Given the description of an element on the screen output the (x, y) to click on. 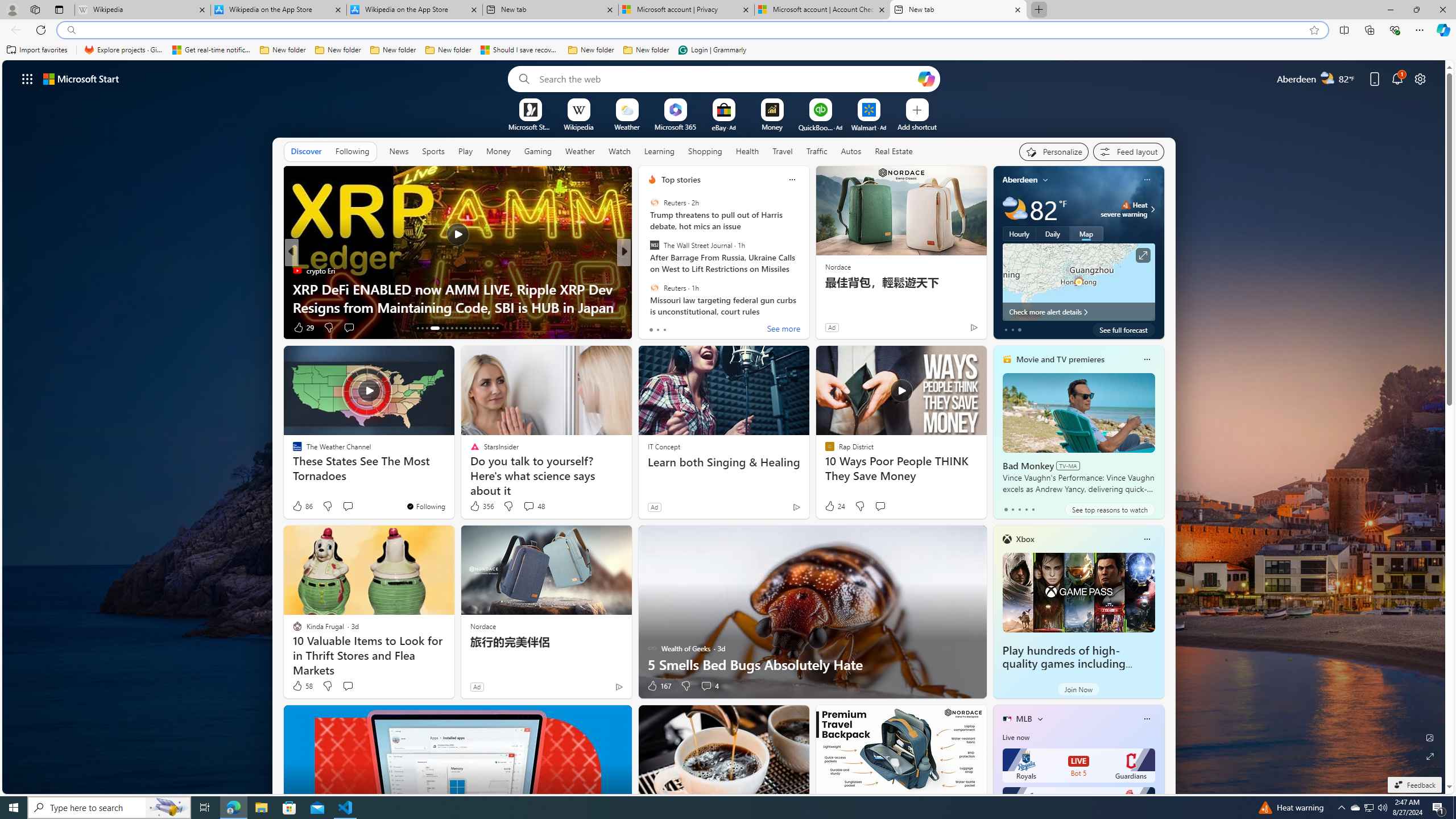
Check more alert details (1077, 311)
Aberdeen (1019, 179)
2 Like (651, 327)
tab-2 (1019, 509)
Travel (782, 151)
Hourly (1018, 233)
GOBankingRates (647, 270)
Expand background (1430, 756)
View comments 4 Comment (705, 685)
App launcher (27, 78)
See full forecast (1123, 329)
